Given the description of an element on the screen output the (x, y) to click on. 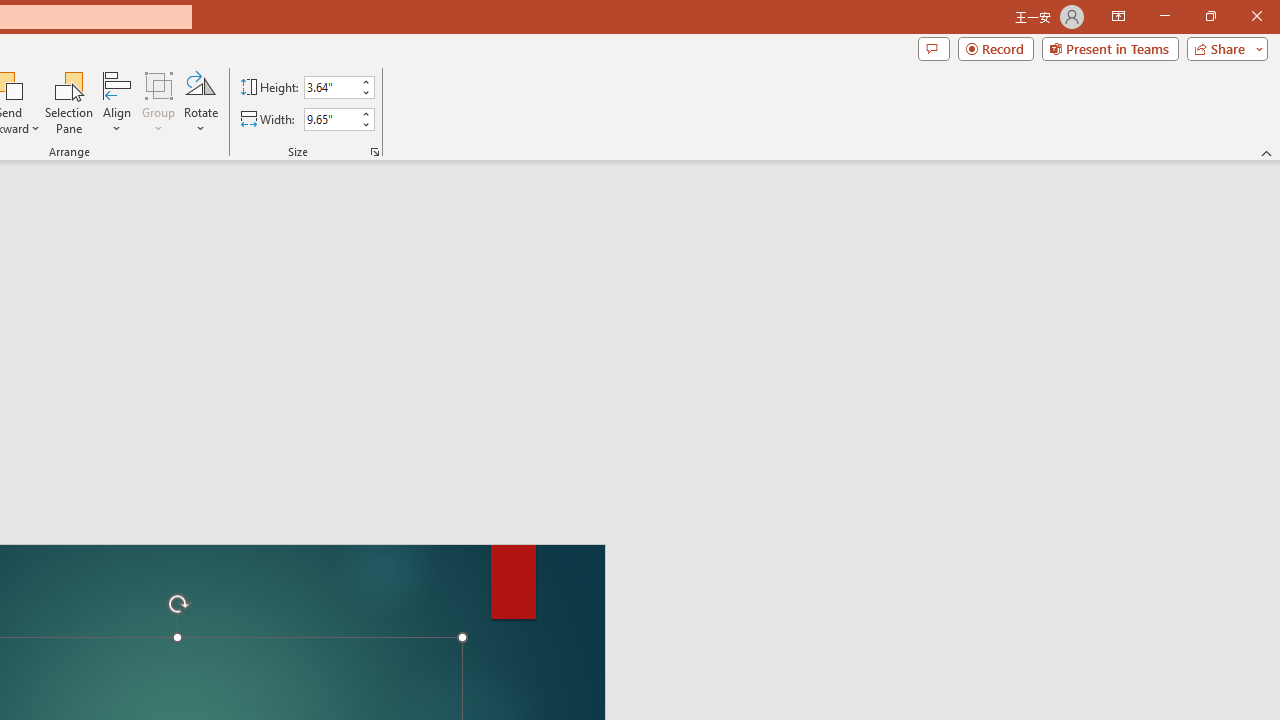
Size and Position... (374, 151)
Rotate (200, 102)
More (365, 113)
